Given the description of an element on the screen output the (x, y) to click on. 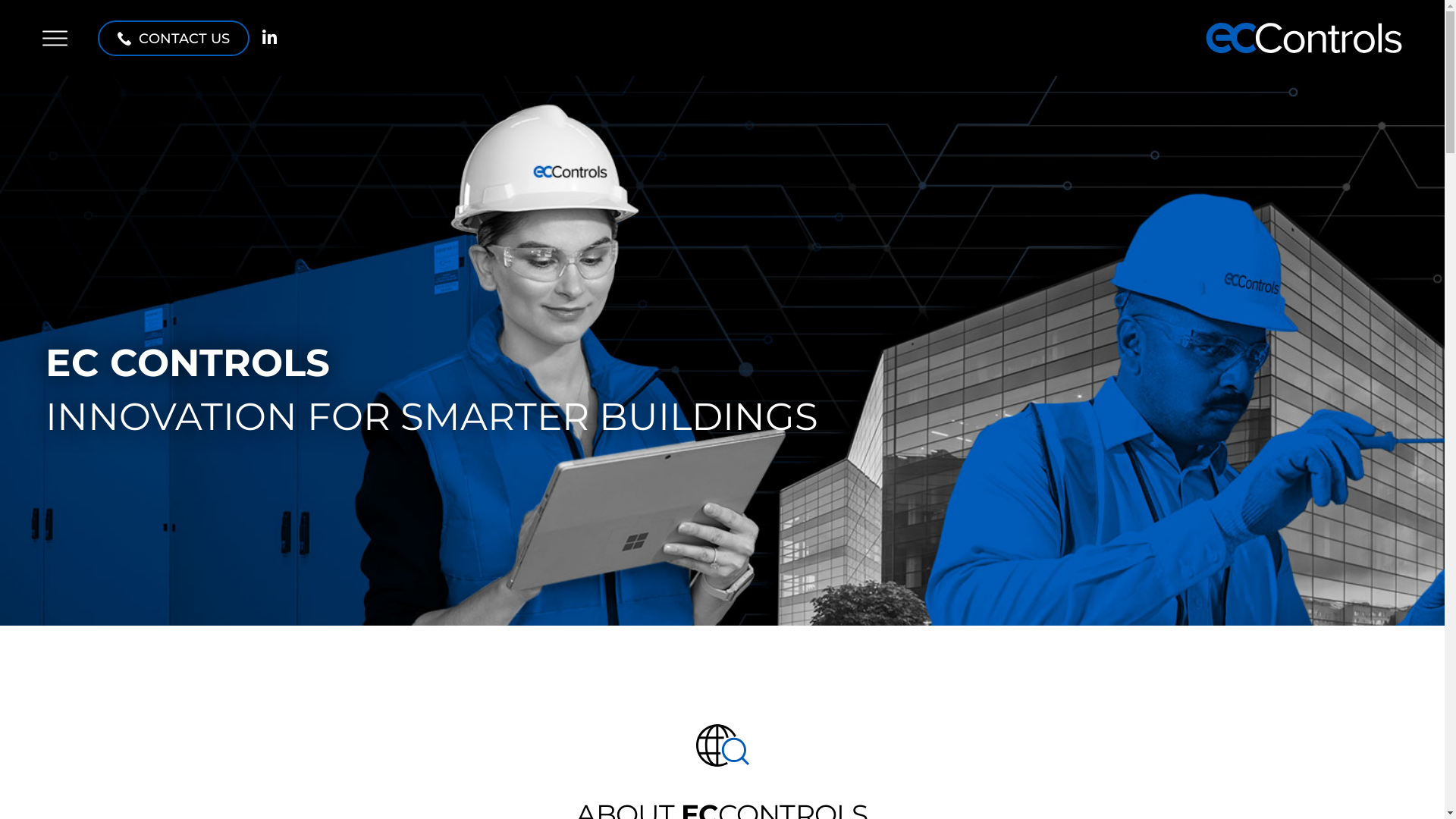
CONTACT US Element type: text (173, 37)
